Given the description of an element on the screen output the (x, y) to click on. 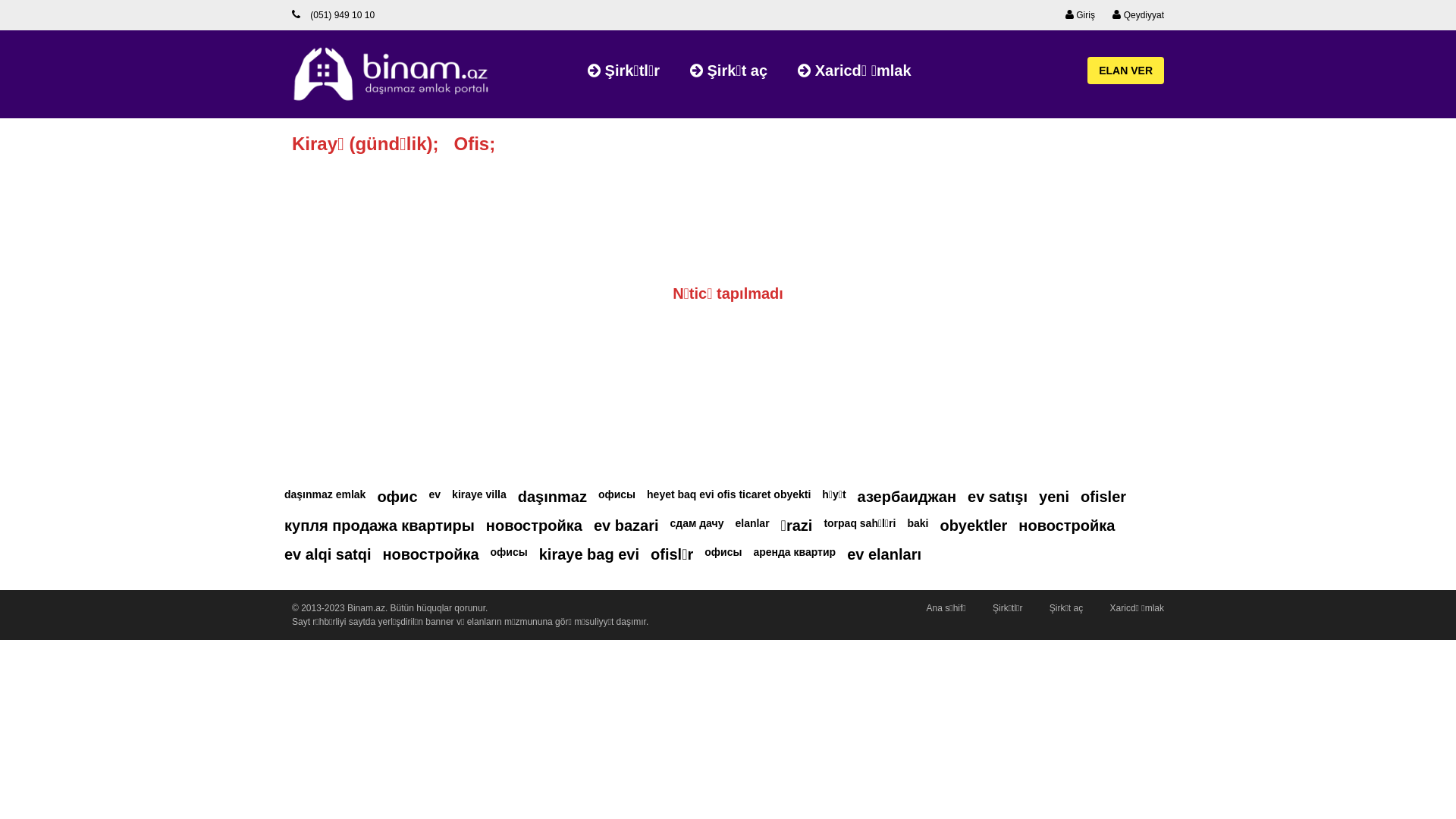
heyet baq evi ofis ticaret obyekti Element type: text (728, 494)
ofisler Element type: text (1103, 496)
(051) 949 10 10 Element type: text (332, 15)
obyektler Element type: text (973, 525)
Qeydiyyat Element type: text (1138, 15)
ev alqi satqi Element type: text (327, 554)
kiraye villa Element type: text (478, 494)
kiraye bag evi Element type: text (589, 554)
ev Element type: text (435, 494)
yeni Element type: text (1053, 496)
ELAN VER Element type: text (1125, 70)
baki Element type: text (917, 523)
elanlar Element type: text (751, 523)
ev bazari Element type: text (625, 525)
